Given the description of an element on the screen output the (x, y) to click on. 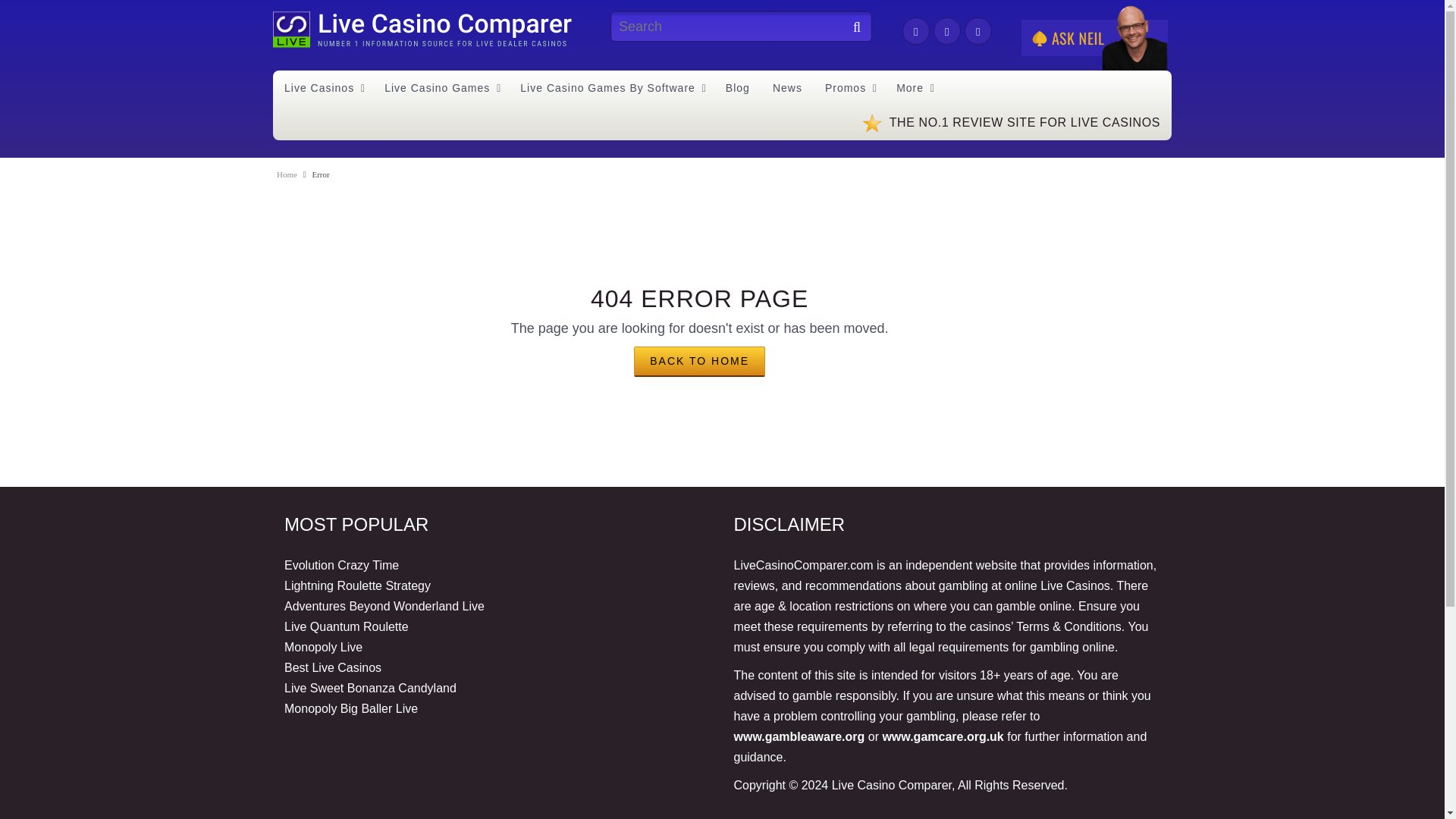
Search (852, 28)
Live Casinos (322, 87)
Search (852, 28)
Live Casino Games (440, 87)
Search (852, 28)
Go to Live Casino Comparer. (286, 174)
